Given the description of an element on the screen output the (x, y) to click on. 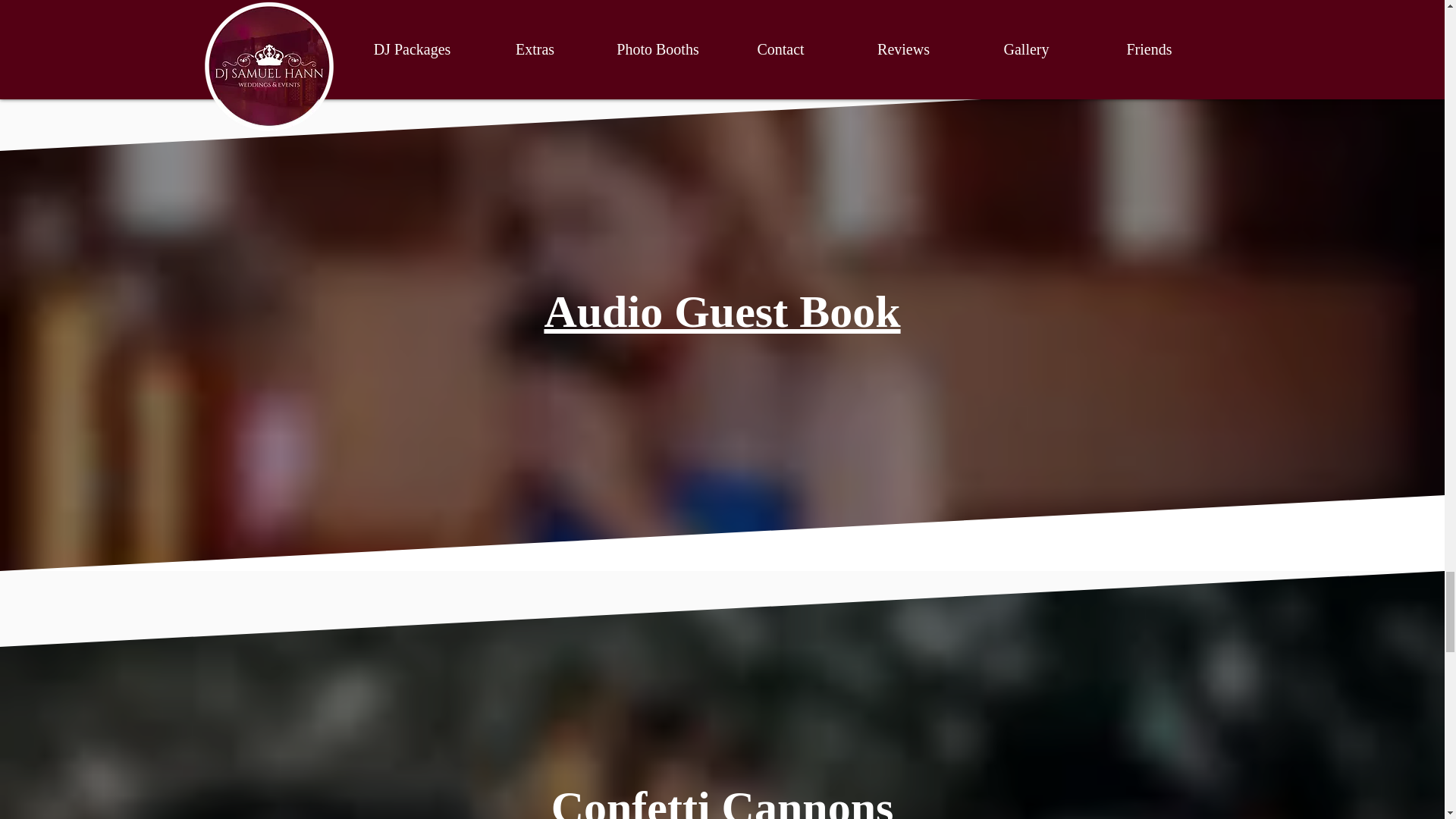
Audio Guest Book (721, 311)
Confetti Cannons (722, 800)
